Given the description of an element on the screen output the (x, y) to click on. 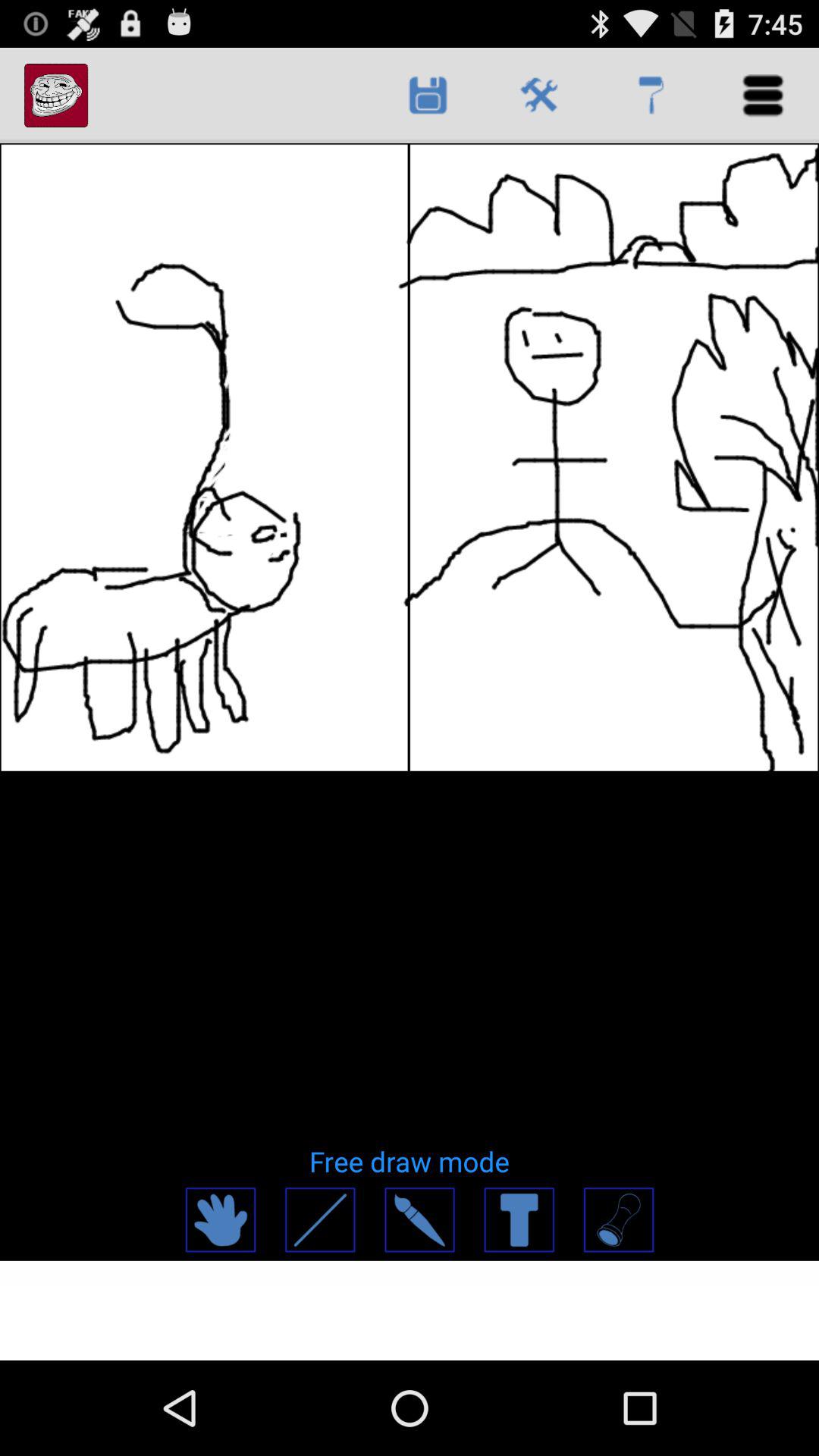
turn off the icon below free draw mode (418, 1219)
